Given the description of an element on the screen output the (x, y) to click on. 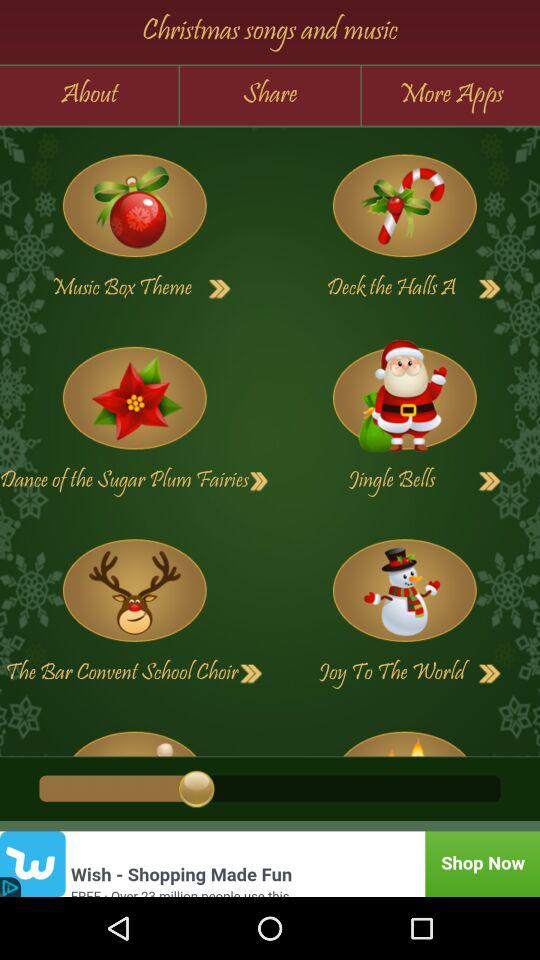
next (251, 673)
